Given the description of an element on the screen output the (x, y) to click on. 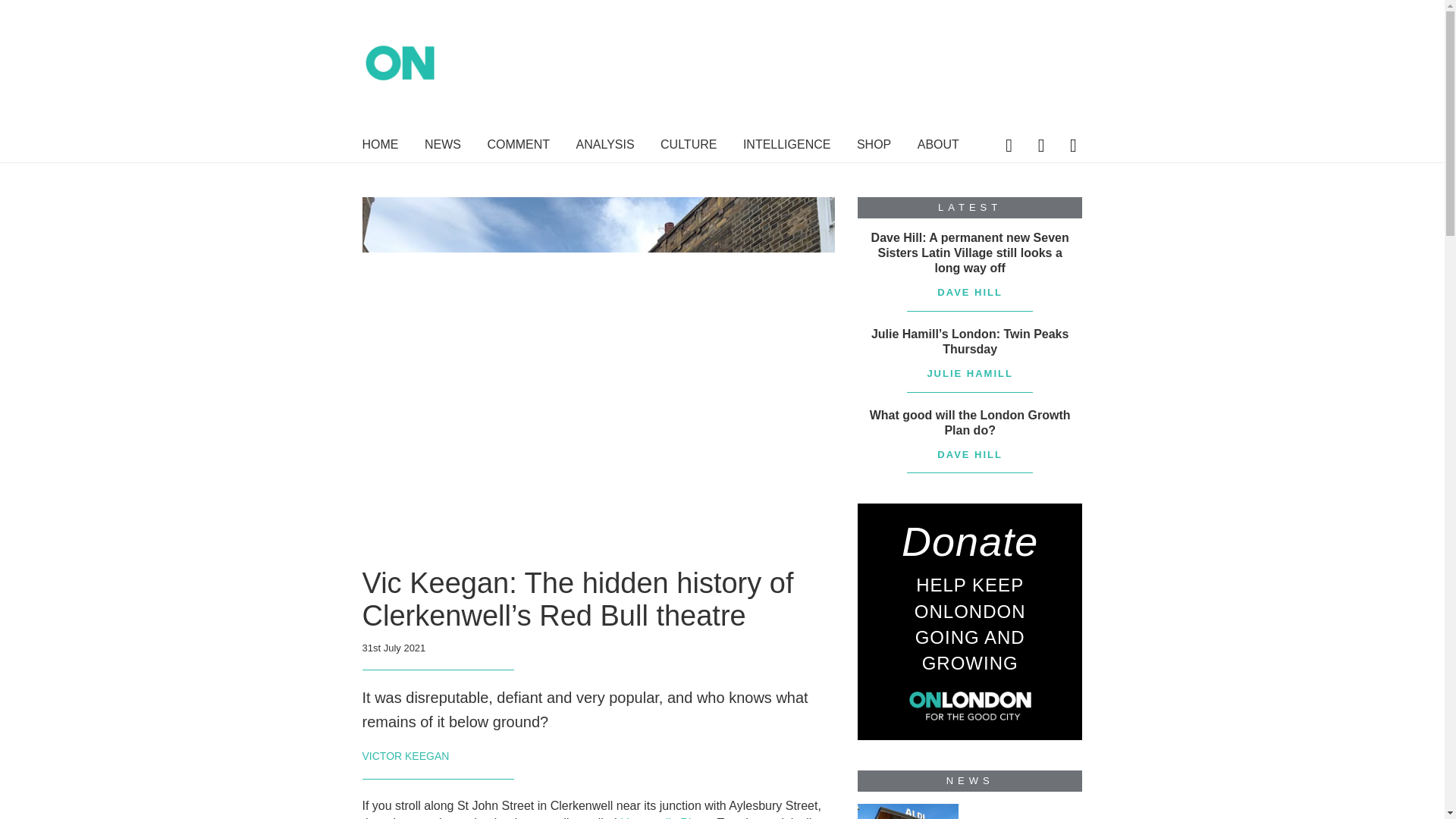
ANALYSIS (605, 147)
CULTURE (688, 147)
ABOUT (938, 147)
OnLondon - For The Good City (498, 74)
NEWS (443, 147)
VICTOR KEEGAN (405, 756)
HOME (380, 147)
SHOP (874, 147)
Aldi and Lidl top London supermarket pay rate league (907, 811)
DONATE (985, 38)
